Given the description of an element on the screen output the (x, y) to click on. 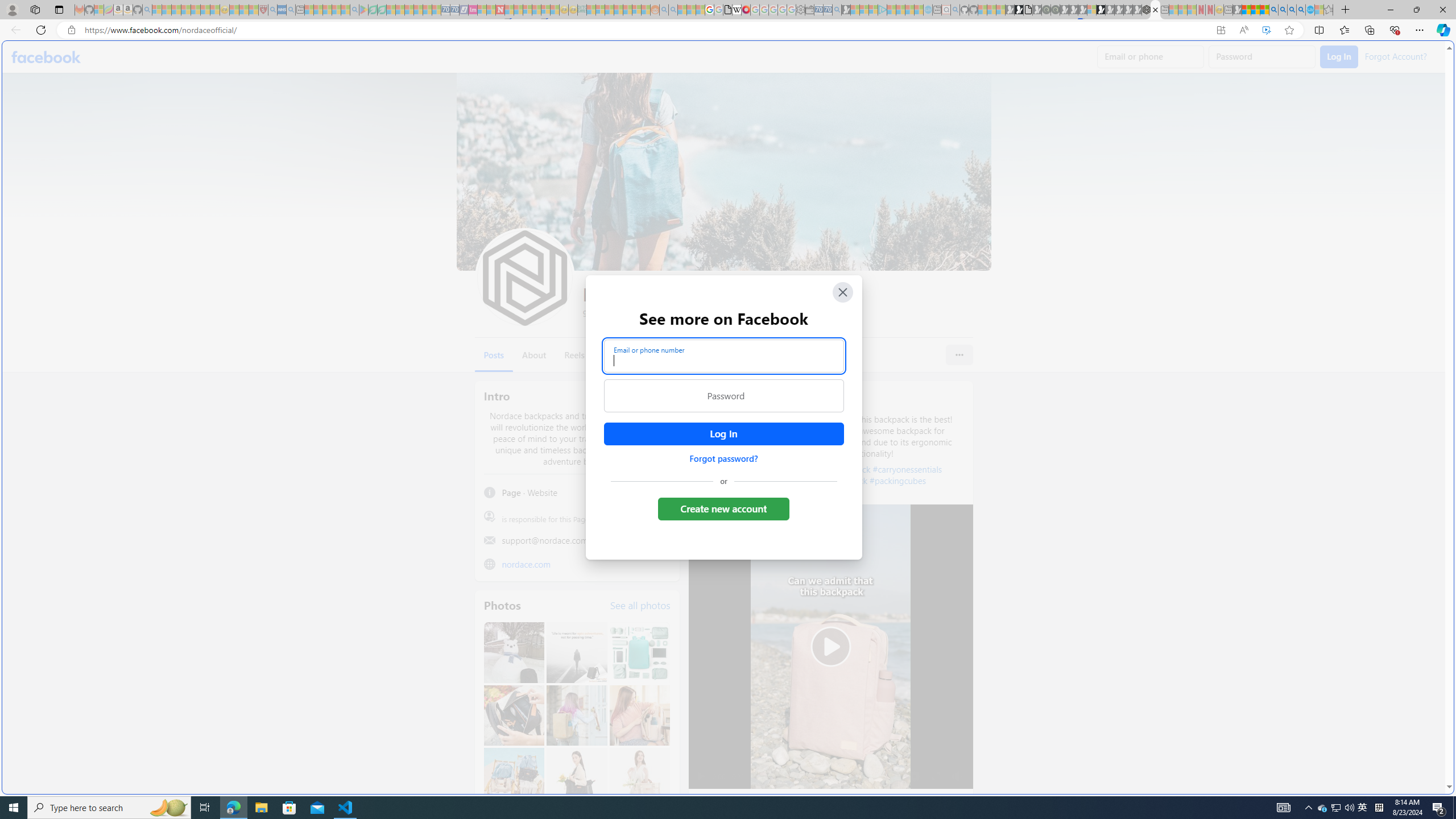
Home | Sky Blue Bikes - Sky Blue Bikes - Sleeping (927, 9)
Cheap Hotels - Save70.com - Sleeping (454, 9)
Play Cave FRVR in your browser | Games from Microsoft Start (922, 242)
Bing AI - Search (1272, 9)
Pets - MSN - Sleeping (336, 9)
